Given the description of an element on the screen output the (x, y) to click on. 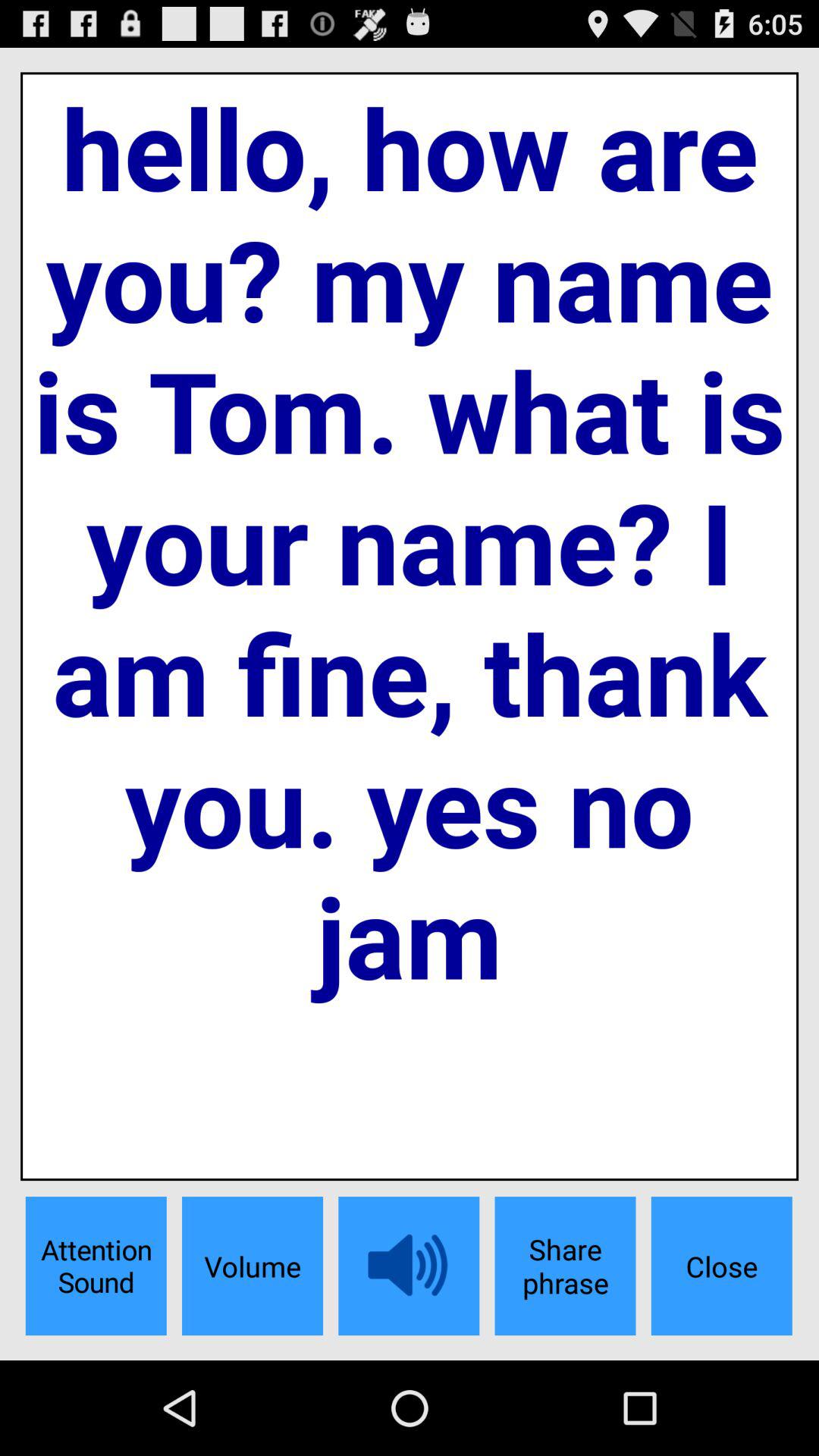
tap icon to the right of the attention sound (252, 1265)
